Given the description of an element on the screen output the (x, y) to click on. 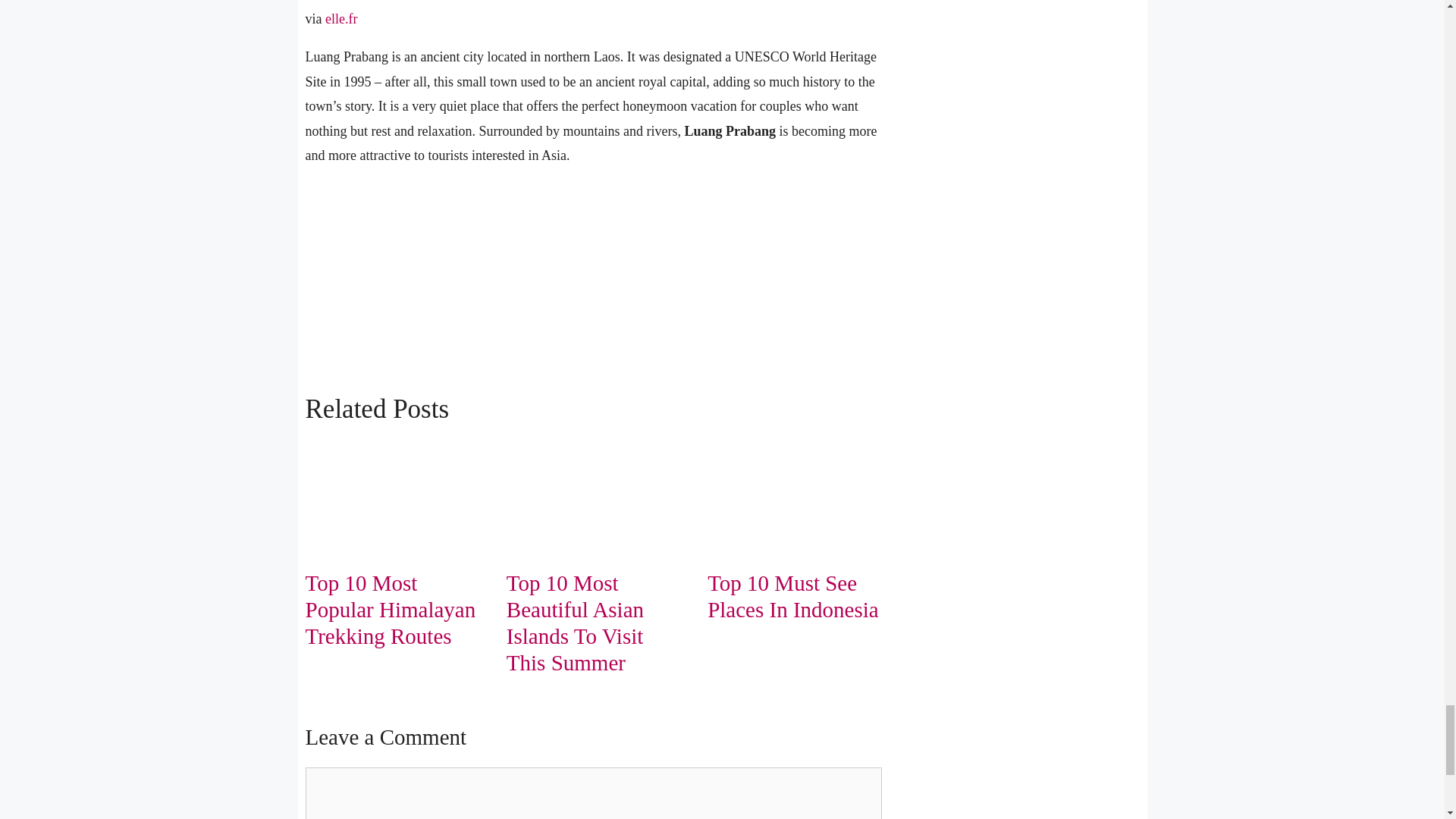
elle.fr (340, 18)
Top 10 Must See Places In Indonesia (793, 595)
Top 10 Most Beautiful Asian Islands To Visit This Summer (574, 622)
Top 10 Most Popular Himalayan Trekking Routes (390, 609)
